Given the description of an element on the screen output the (x, y) to click on. 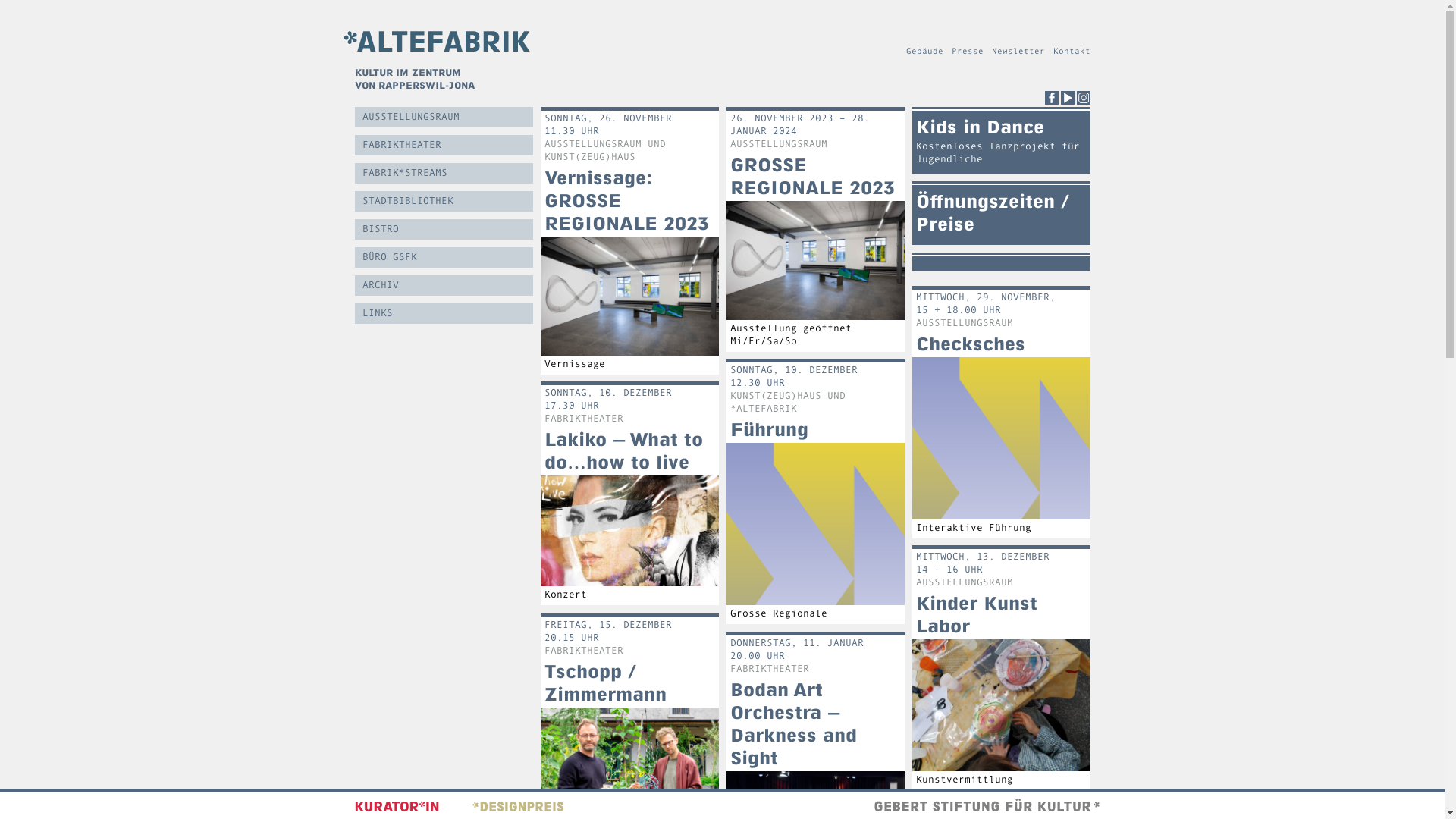
LINKS Element type: text (443, 313)
Checksches Element type: text (970, 343)
Kontakt Element type: text (1070, 51)
Tschopp / Zimmermann Element type: text (605, 682)
ARCHIV Element type: text (443, 285)
Kids in Dance Element type: text (980, 126)
Newsletter Element type: text (1017, 51)
GROSSE REGIONALE 2023 Element type: text (811, 175)
FABRIK*STREAMS Element type: text (443, 173)
BISTRO Element type: text (443, 229)
Kinder Kunst Labor Element type: text (976, 614)
FABRIKTHEATER Element type: text (443, 144)
STADTBIBLIOTHEK Element type: text (443, 201)
Presse Element type: text (966, 51)
AUSSTELLUNGSRAUM Element type: text (443, 116)
Vernissage: GROSSE REGIONALE 2023 Element type: text (626, 199)
